Given the description of an element on the screen output the (x, y) to click on. 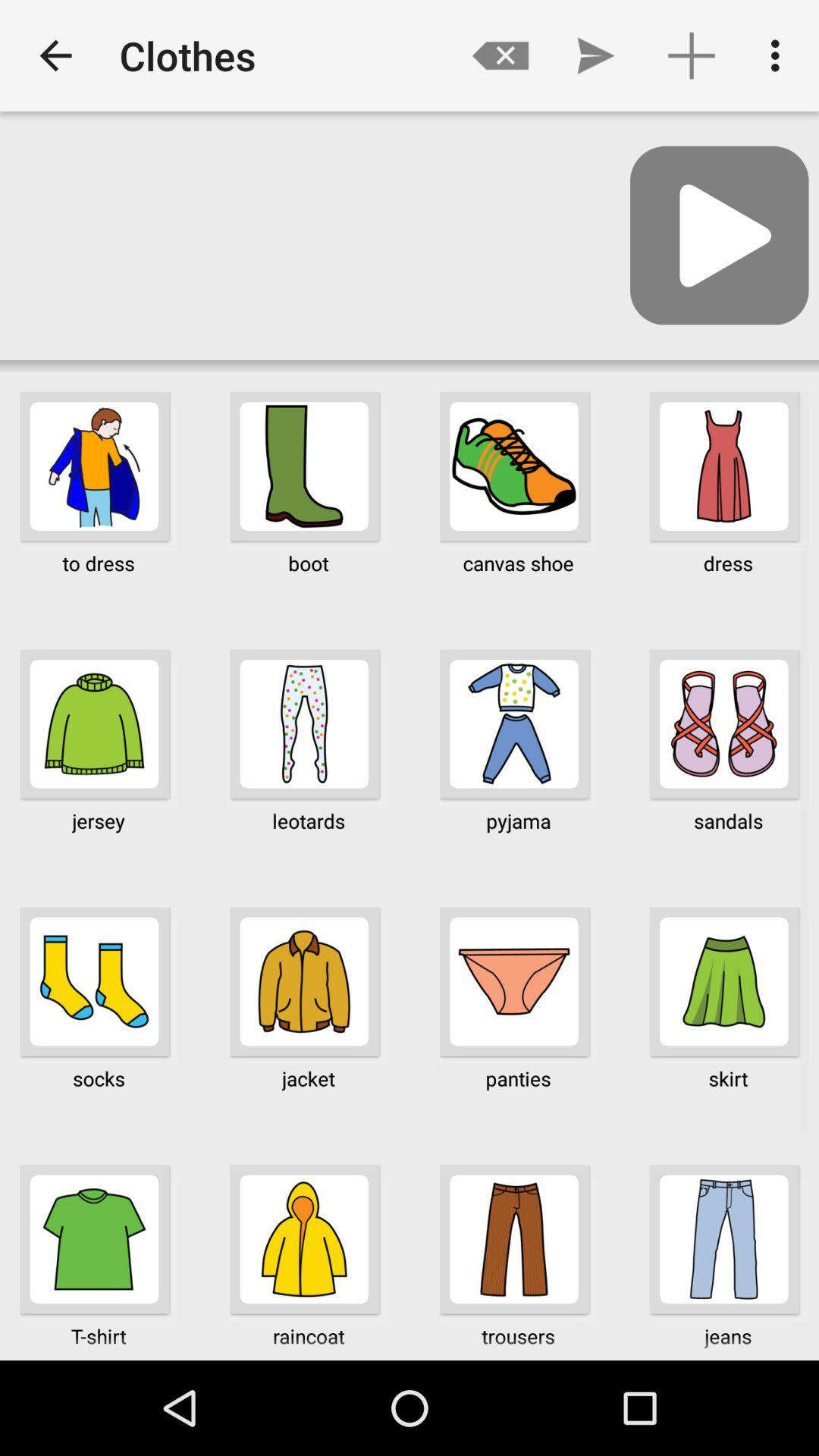
play the video (719, 235)
